Given the description of an element on the screen output the (x, y) to click on. 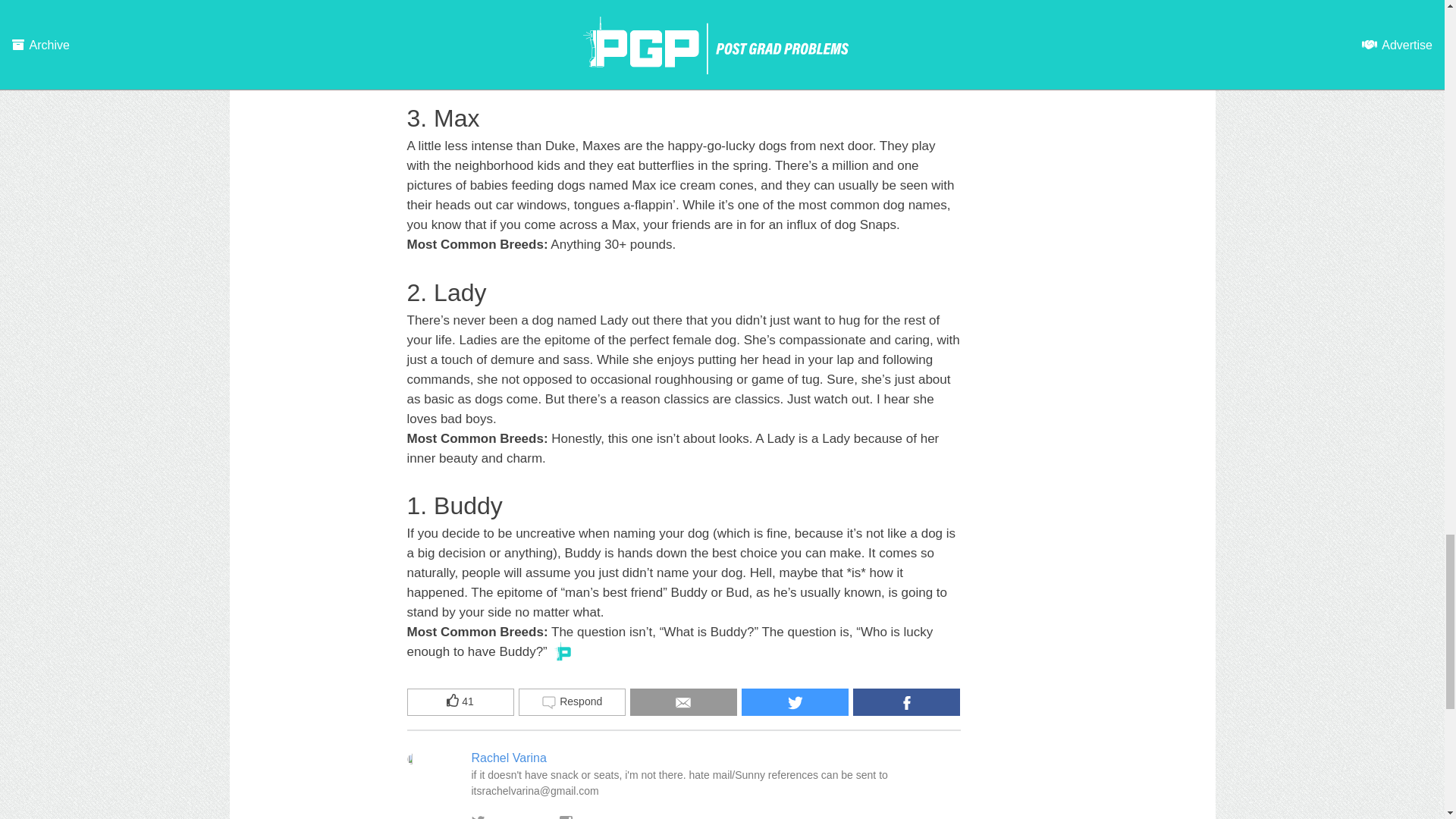
Respond (572, 701)
41 (459, 701)
Rachel Varina (509, 757)
